Given the description of an element on the screen output the (x, y) to click on. 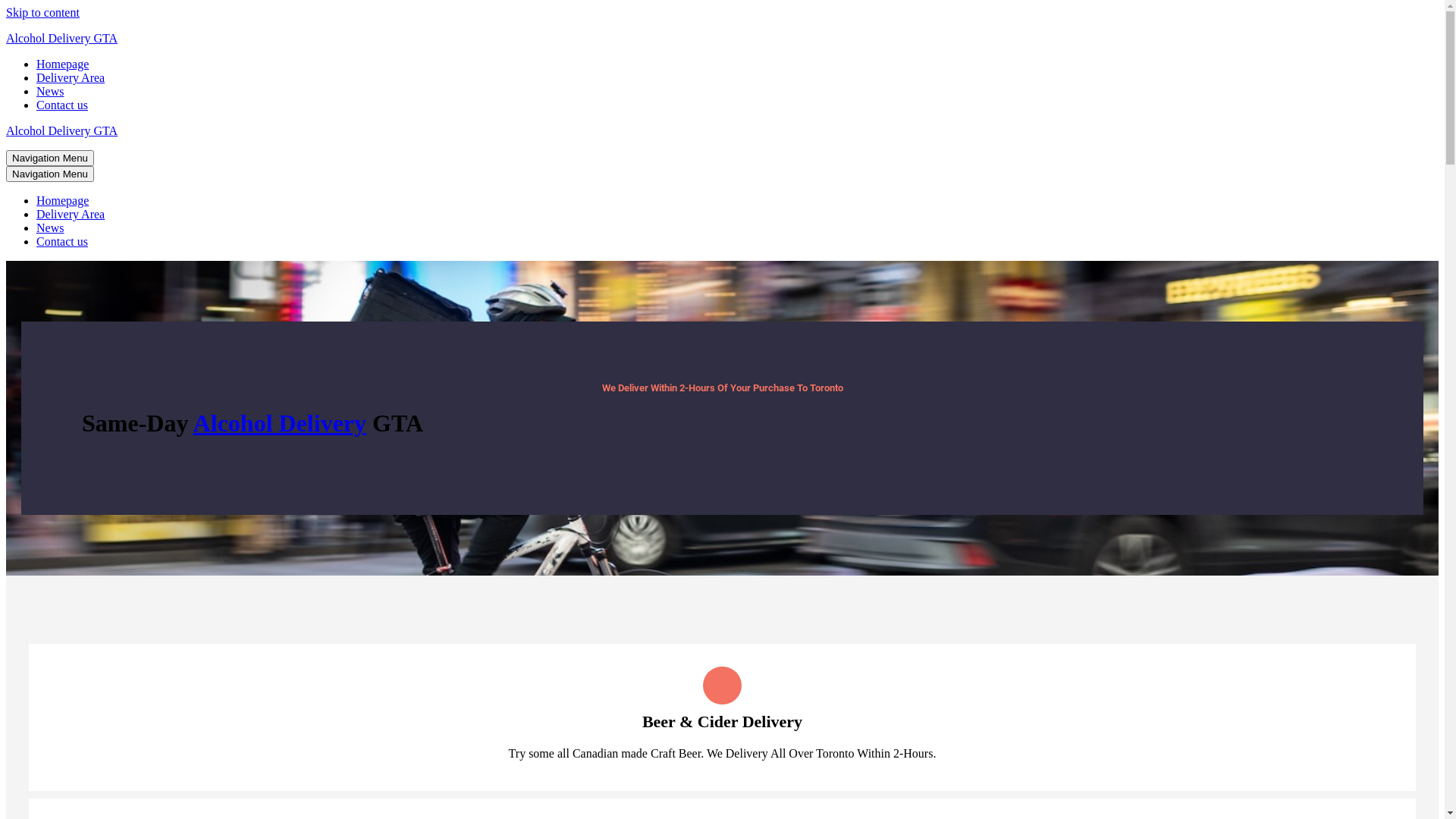
News Element type: text (49, 227)
Alcohol Delivery Element type: text (279, 422)
Delivery Area Element type: text (70, 77)
Contact us Element type: text (61, 104)
News Element type: text (49, 90)
Delivery Area Element type: text (70, 213)
Homepage Element type: text (62, 200)
Homepage Element type: text (62, 63)
Alcohol Delivery GTA Element type: text (722, 38)
Alcohol Delivery GTA Element type: text (722, 131)
Contact us Element type: text (61, 241)
Navigation Menu Element type: text (50, 158)
Navigation Menu Element type: text (50, 174)
Skip to content Element type: text (42, 12)
